Given the description of an element on the screen output the (x, y) to click on. 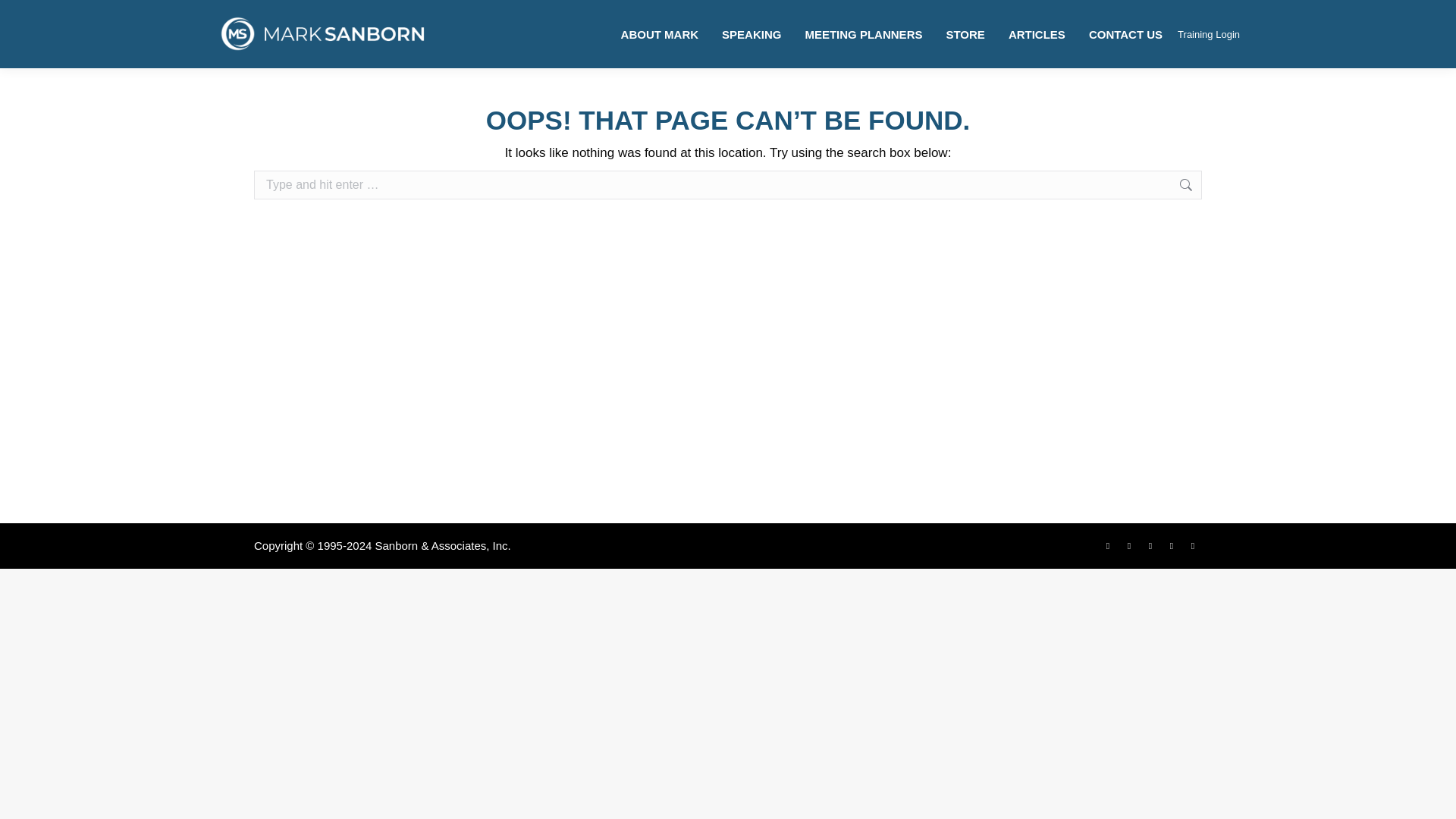
SPEAKING (751, 34)
Training Login (1208, 33)
ARTICLES (1037, 34)
Go! (1225, 185)
MEETING PLANNERS (863, 34)
STORE (964, 34)
CONTACT US (1125, 34)
ABOUT MARK (660, 34)
Go! (1225, 185)
